Given the description of an element on the screen output the (x, y) to click on. 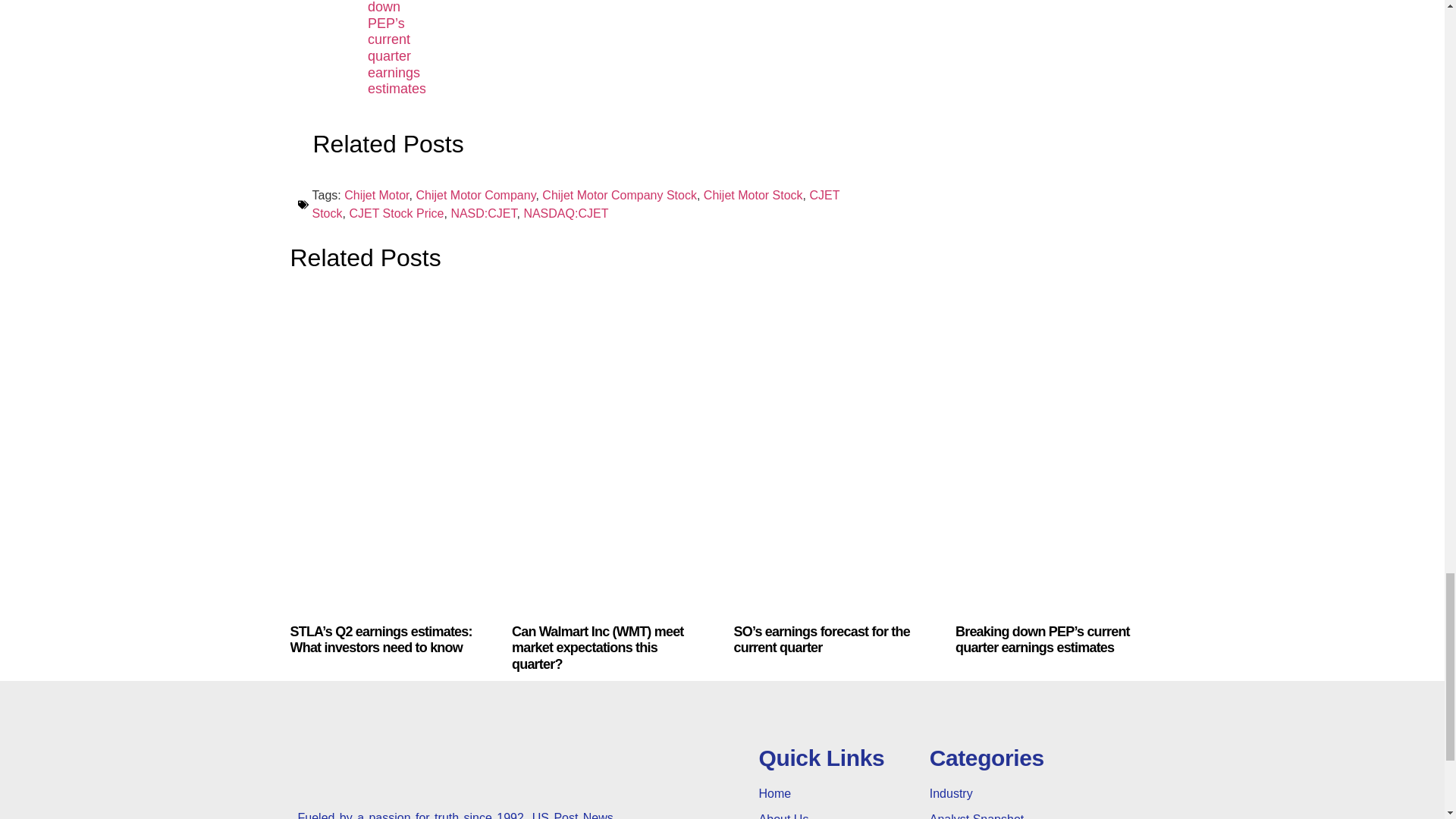
Chijet Motor Company (474, 195)
NASD:CJET (482, 213)
Chijet Motor Stock (753, 195)
Chijet Motor (376, 195)
Chijet Motor Company Stock (619, 195)
CJET Stock Price (396, 213)
CJET Stock (576, 204)
